Given the description of an element on the screen output the (x, y) to click on. 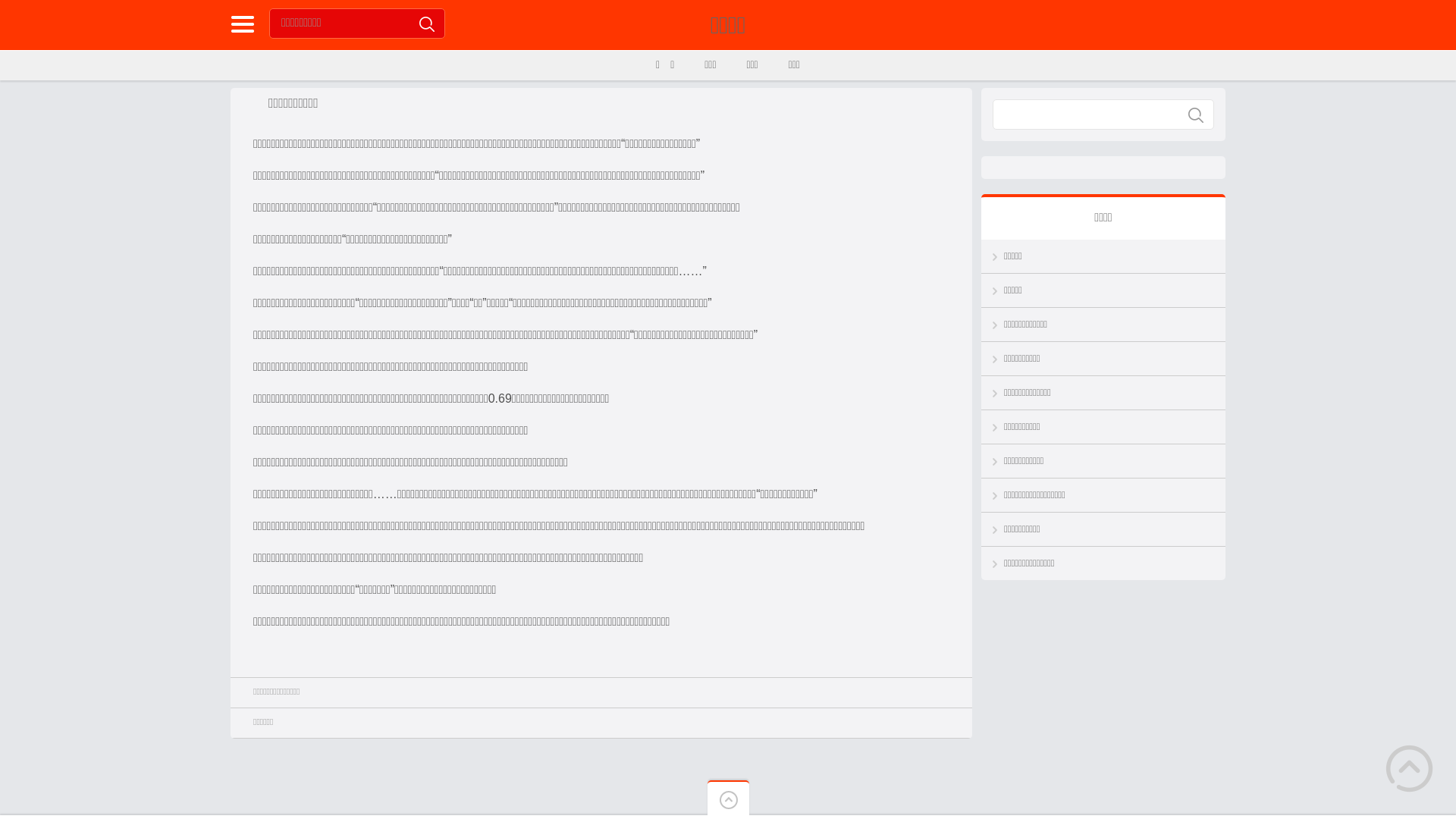
Search Element type: text (426, 23)
Scroll to Top Element type: text (1409, 768)
